Given the description of an element on the screen output the (x, y) to click on. 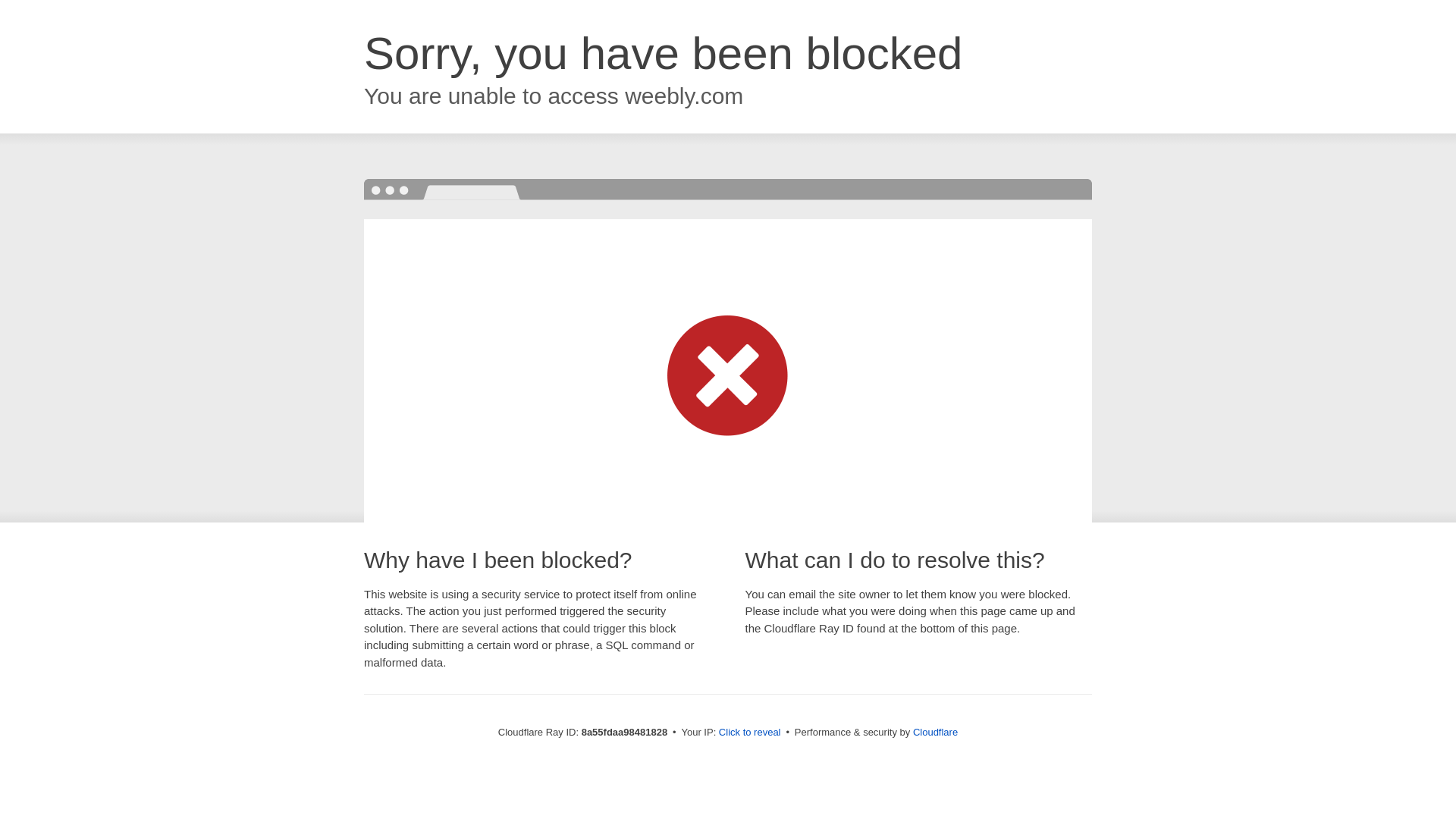
Cloudflare (935, 731)
Click to reveal (749, 732)
